Given the description of an element on the screen output the (x, y) to click on. 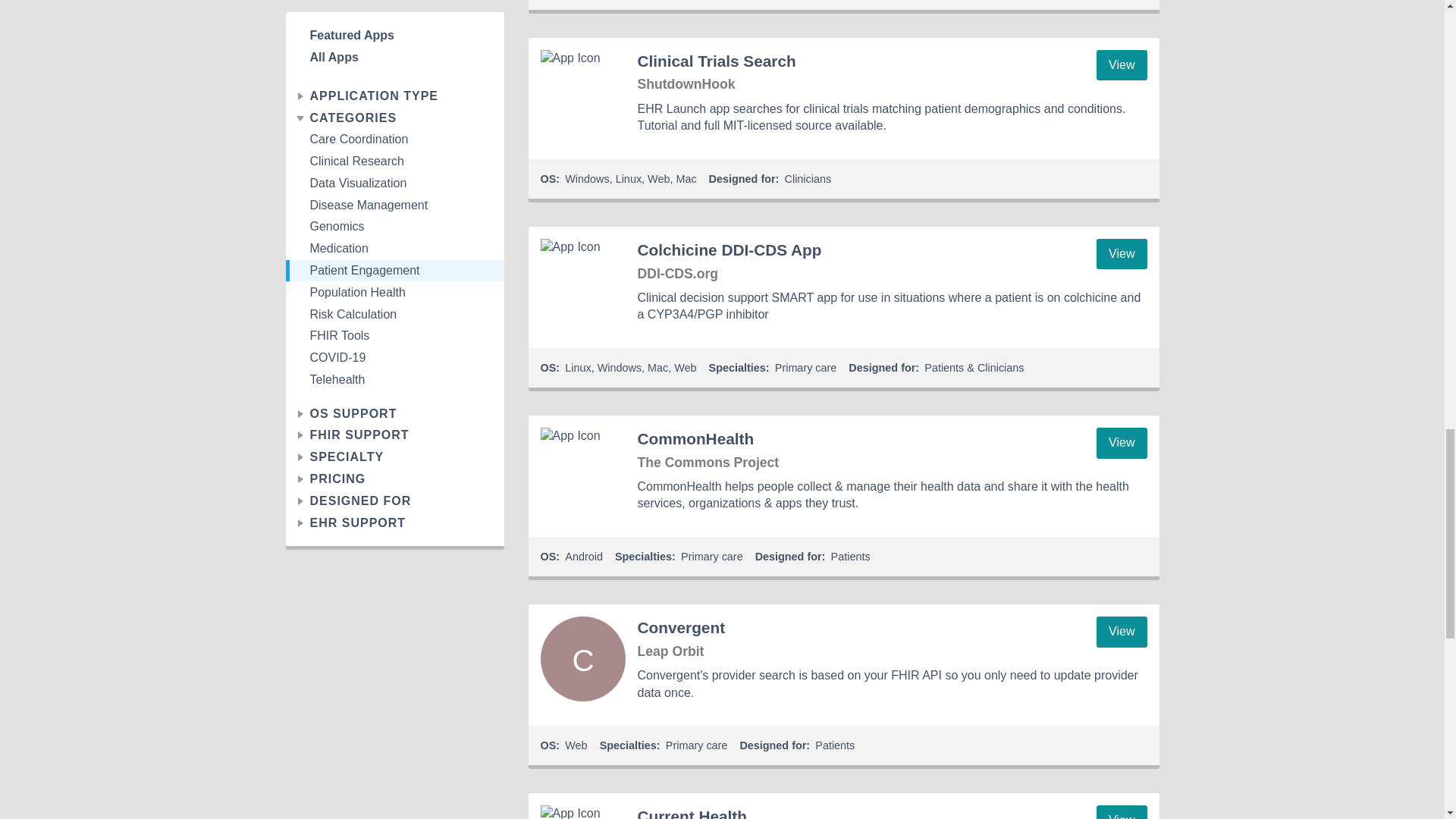
Clinical Trials Search (582, 92)
C (582, 658)
Convergent (582, 658)
CommonHealth (582, 469)
Current Health (582, 812)
Colchicine DDI-CDS App (582, 281)
